Given the description of an element on the screen output the (x, y) to click on. 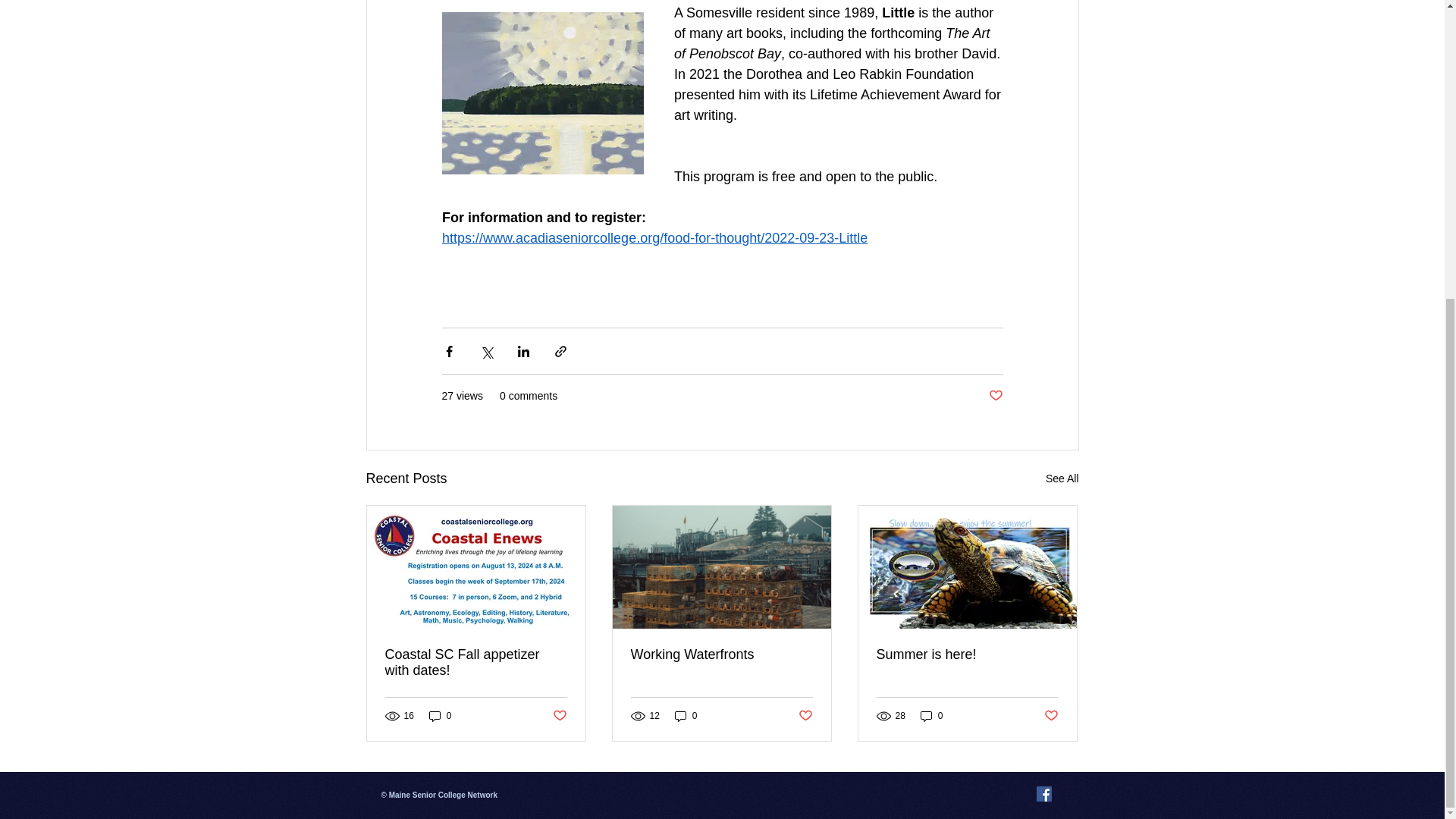
See All (1061, 478)
Summer is here! (967, 654)
Post not marked as liked (804, 715)
Post not marked as liked (1050, 715)
Working Waterfronts (721, 654)
Coastal SC Fall appetizer with dates! (476, 662)
0 (440, 716)
0 (931, 716)
Post not marked as liked (995, 396)
0 (685, 716)
